Given the description of an element on the screen output the (x, y) to click on. 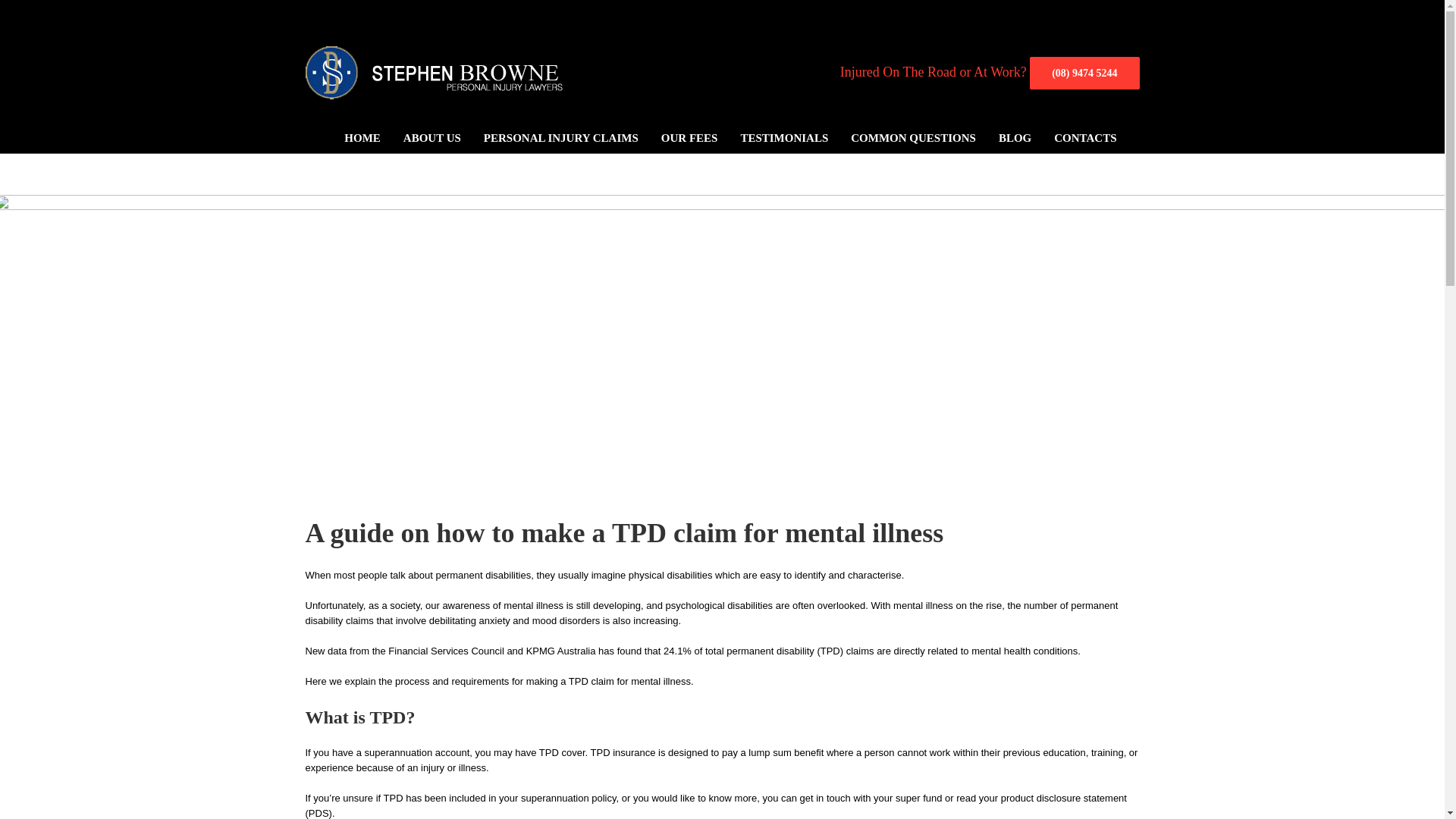
BLOG (1014, 137)
TESTIMONIALS (783, 137)
COMMON QUESTIONS (912, 137)
PERSONAL INJURY CLAIMS (561, 137)
OUR FEES (689, 137)
ABOUT US (432, 137)
HOME (361, 137)
CONTACTS (1085, 137)
